Given the description of an element on the screen output the (x, y) to click on. 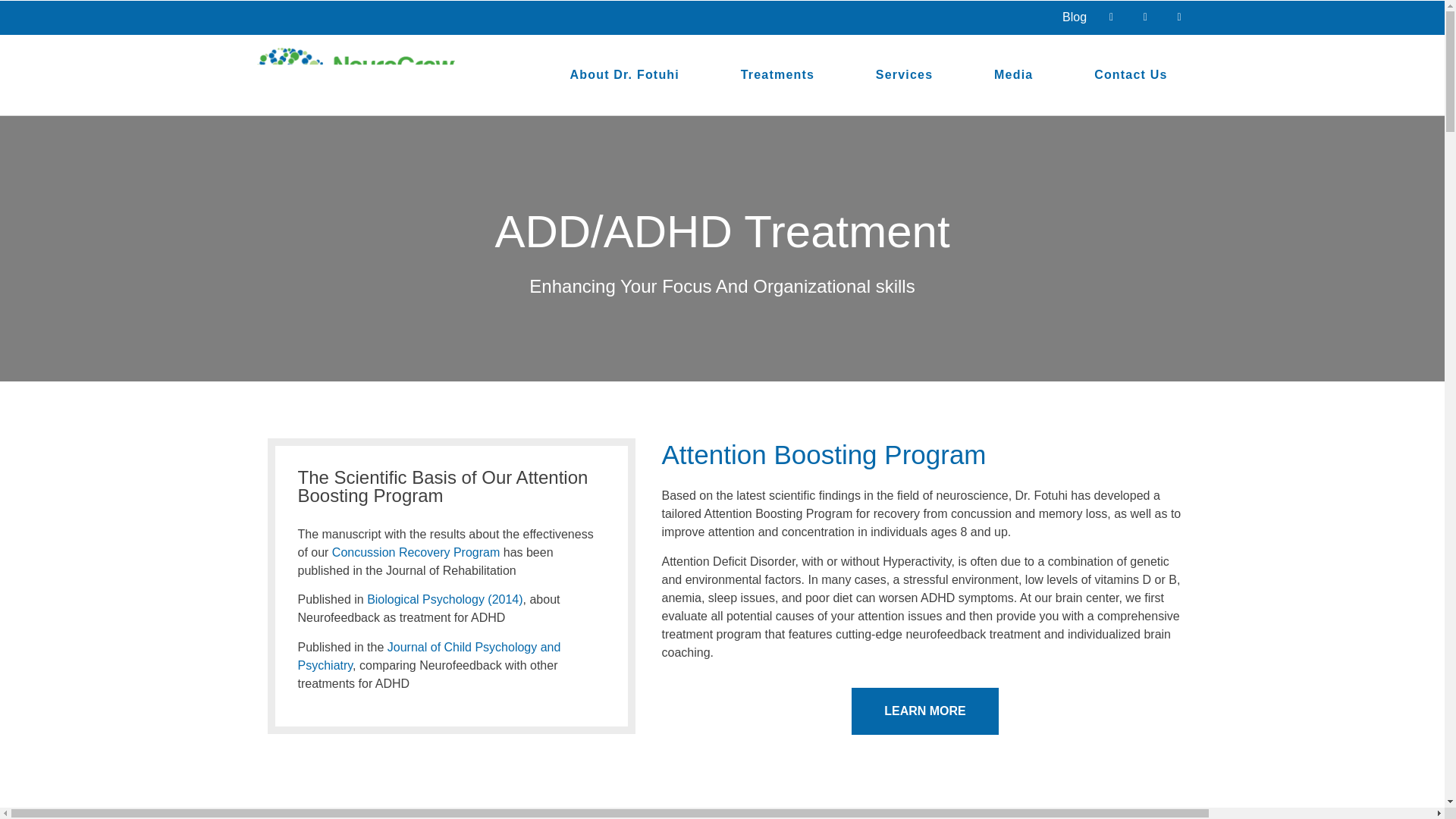
Blog (1074, 16)
Media (1013, 75)
About Dr. Fotuhi (624, 75)
Services (903, 75)
Treatments (777, 75)
Contact Us (1130, 75)
